Given the description of an element on the screen output the (x, y) to click on. 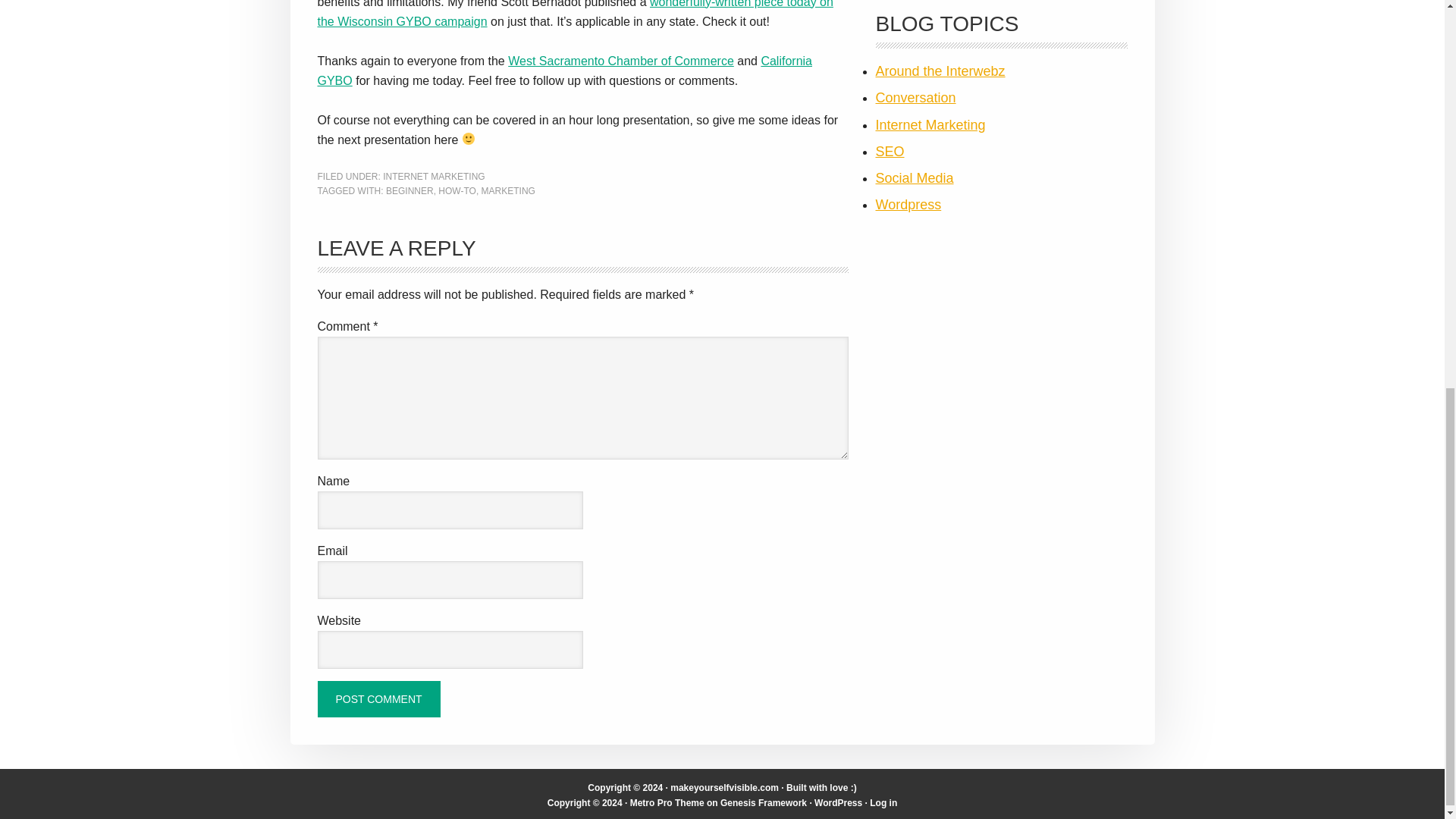
West Sacramento Chamber of Commerce (620, 60)
Post Comment (378, 698)
Social Media (914, 177)
California GYBO (563, 70)
Wisconsin GYBO Free Website (574, 13)
Around the Interwebz (939, 70)
SEO (889, 151)
Post Comment (378, 698)
Internet Marketing (930, 124)
Wordpress (907, 204)
